Given the description of an element on the screen output the (x, y) to click on. 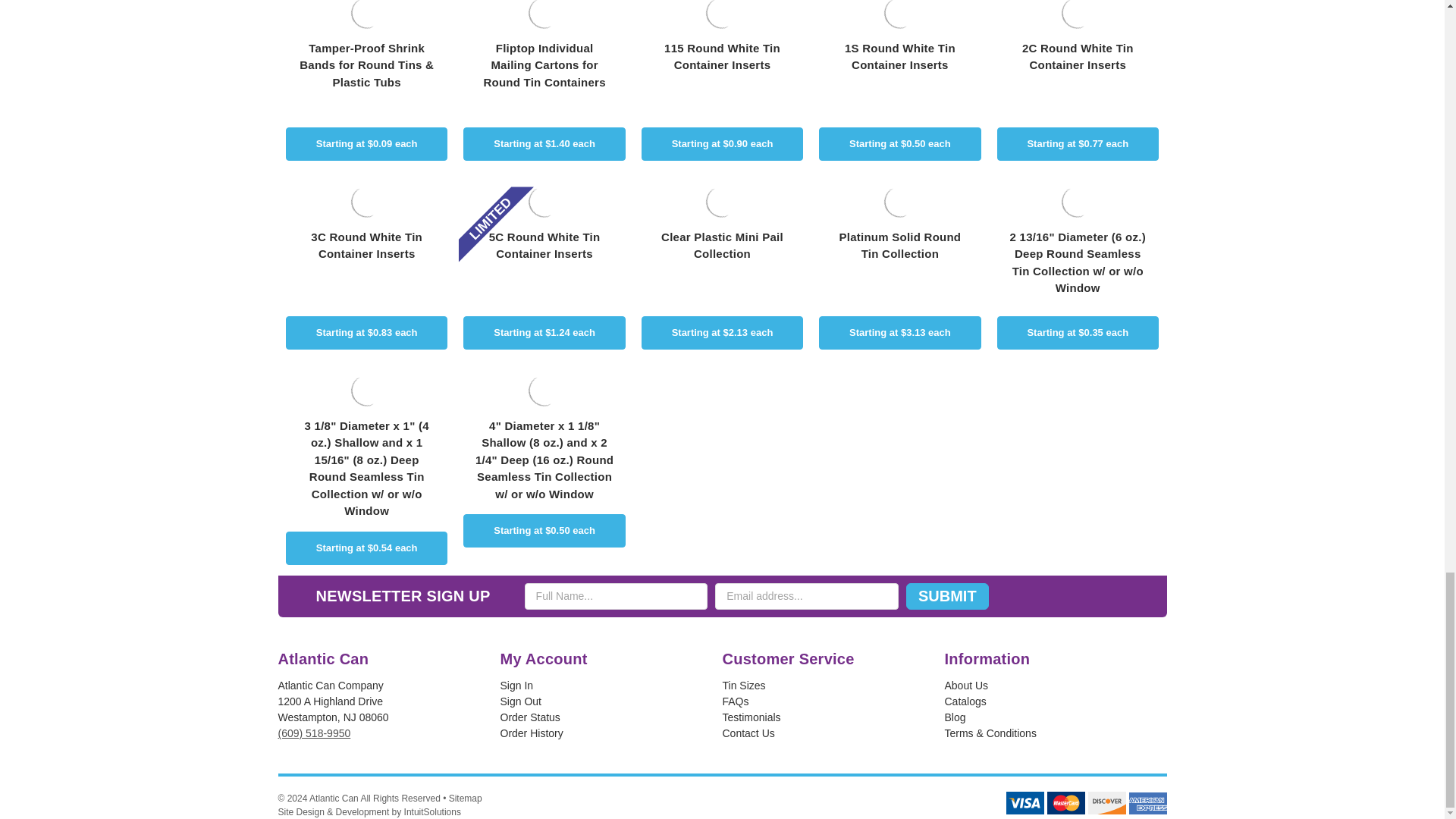
3C Tin Insert (366, 201)
Fliptop Individual Mailing Carton (544, 15)
5c Tin Insert (544, 201)
Platinum Round Tin Container (899, 201)
2C Tin Insert (1077, 15)
1S Tin Insert (899, 15)
115 Tin Insert (722, 15)
Clear Plastic Mini Pail Red (722, 201)
Submit (946, 596)
Tamper-Proof Shrink Bands for Round Tins (366, 15)
